Given the description of an element on the screen output the (x, y) to click on. 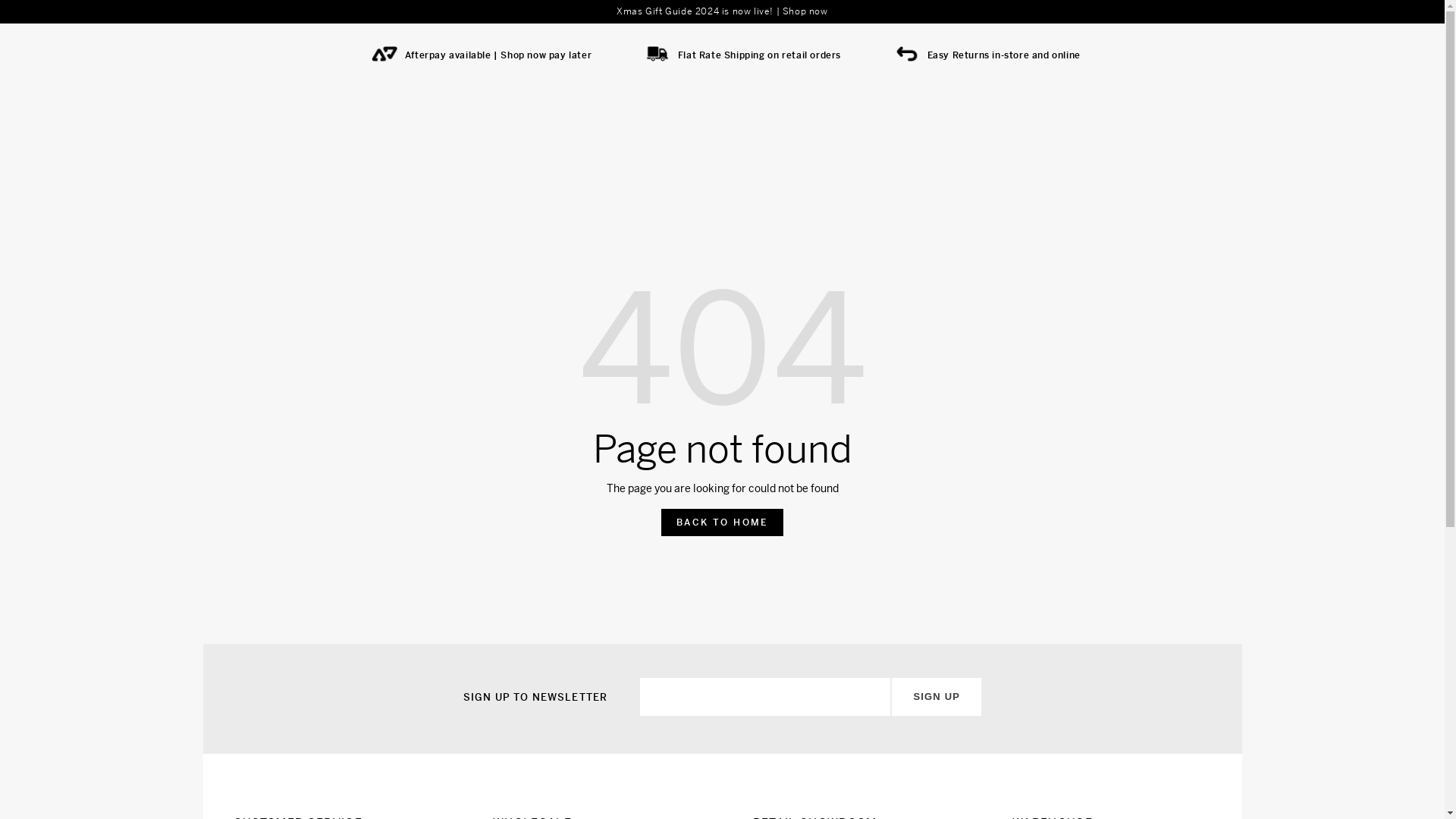
Subscribe Element type: hover (965, 683)
Xmas Gift Guide 2024 is now live! | Shop now Element type: text (721, 11)
BACK TO HOME Element type: text (722, 522)
Sign Up Element type: text (935, 696)
Shipping Element type: text (744, 55)
Returns Element type: text (969, 55)
